Given the description of an element on the screen output the (x, y) to click on. 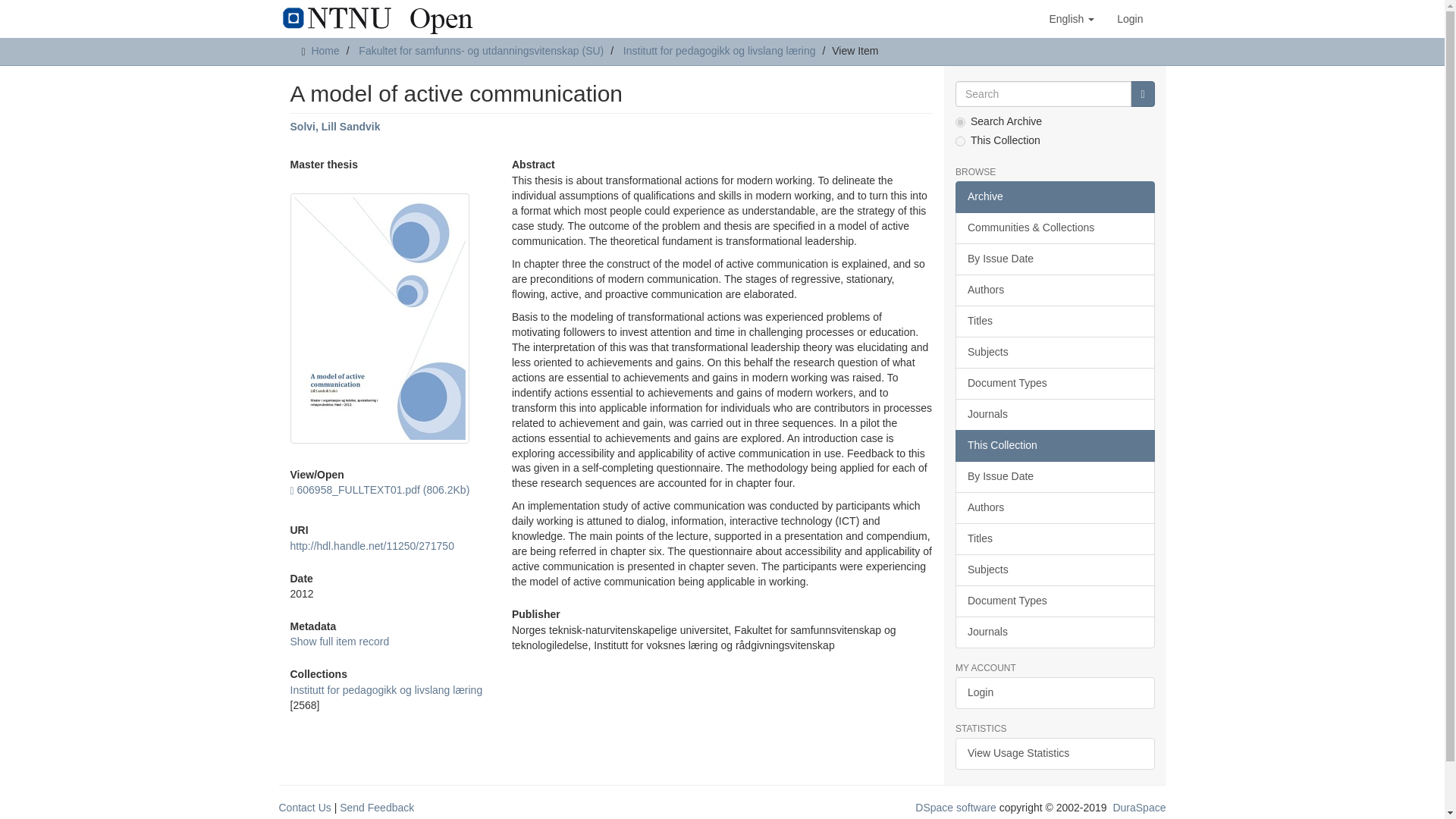
Document Types (1054, 383)
Authors (1054, 290)
Journals (1054, 414)
Solvi, Lill Sandvik (334, 126)
Archive (1054, 196)
Login (1129, 18)
By Issue Date (1054, 259)
Go (1142, 94)
Home (325, 50)
English  (1070, 18)
